Given the description of an element on the screen output the (x, y) to click on. 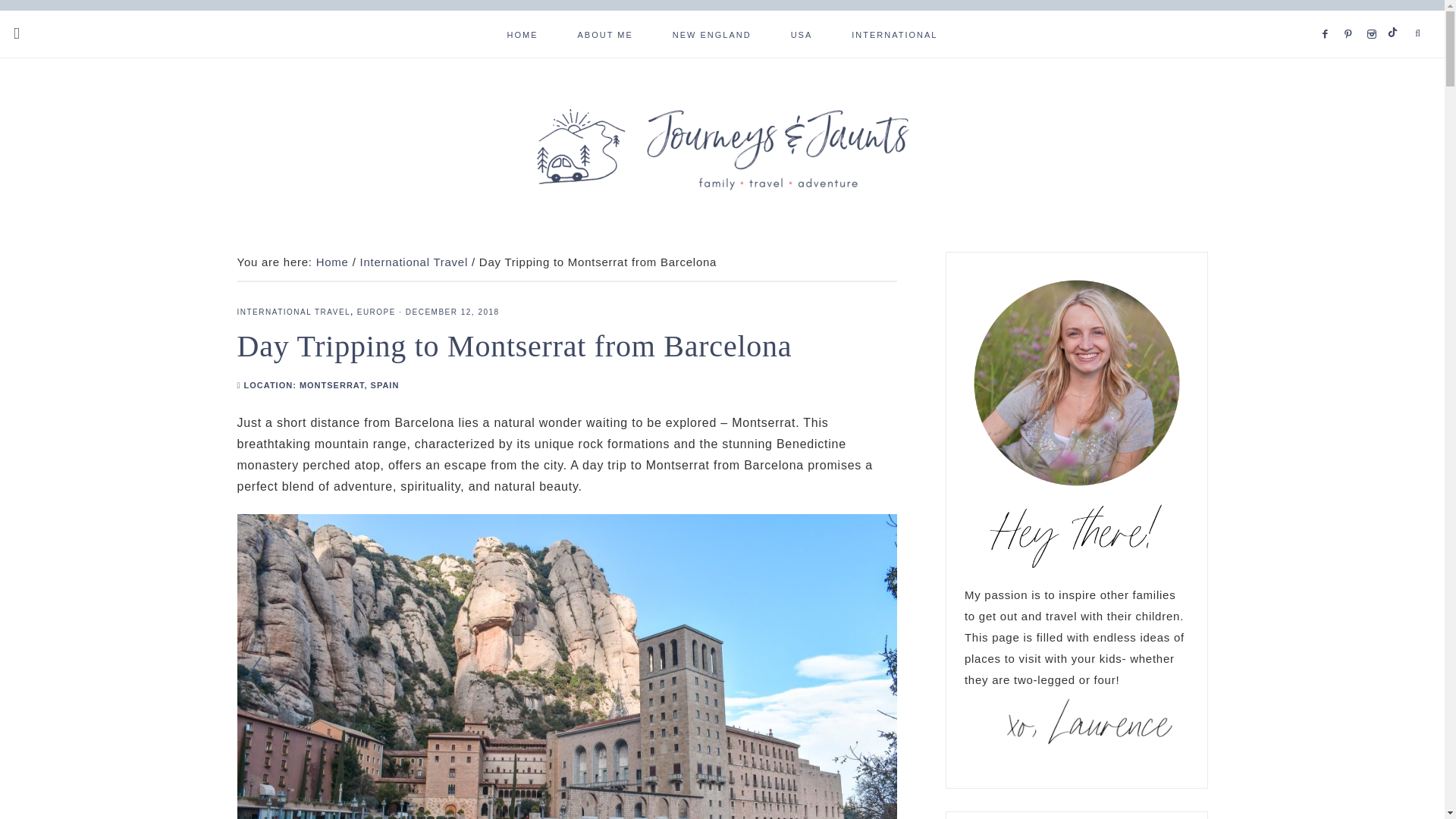
NEW ENGLAND (711, 33)
INTERNATIONAL (893, 33)
HOME (521, 33)
USA (801, 33)
Pinterest (1351, 14)
INTERNATIONAL TRAVEL (292, 311)
EUROPE (376, 311)
Facebook (1328, 14)
International Travel (413, 261)
JOURNEYS AND JAUNTS (721, 149)
Home (332, 261)
ABOUT ME (604, 33)
Instagram (1374, 14)
